Given the description of an element on the screen output the (x, y) to click on. 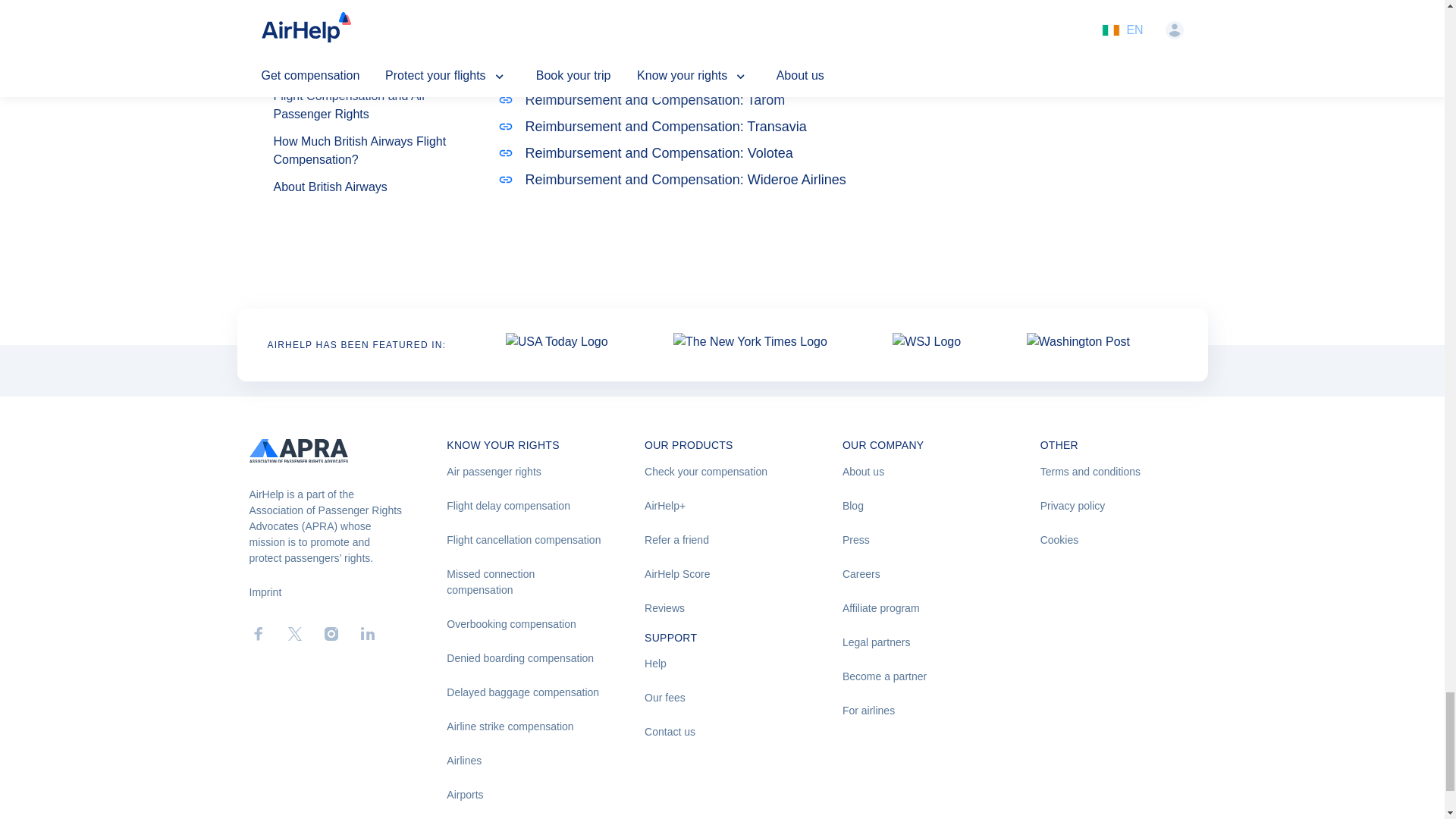
Airline strike compensation (524, 726)
SocialFacebook (257, 633)
Denied boarding compensation (524, 658)
Flight delay compensation (524, 505)
SocialLinkedin (366, 633)
Air passenger rights (524, 471)
Delayed baggage compensation (524, 692)
Flight cancellation compensation (524, 539)
Imprint (264, 592)
SocialInstagram (330, 633)
Missed connection compensation (524, 582)
Check your compensation (722, 471)
Airports (524, 795)
Airlines (524, 760)
Overbooking compensation (524, 624)
